Given the description of an element on the screen output the (x, y) to click on. 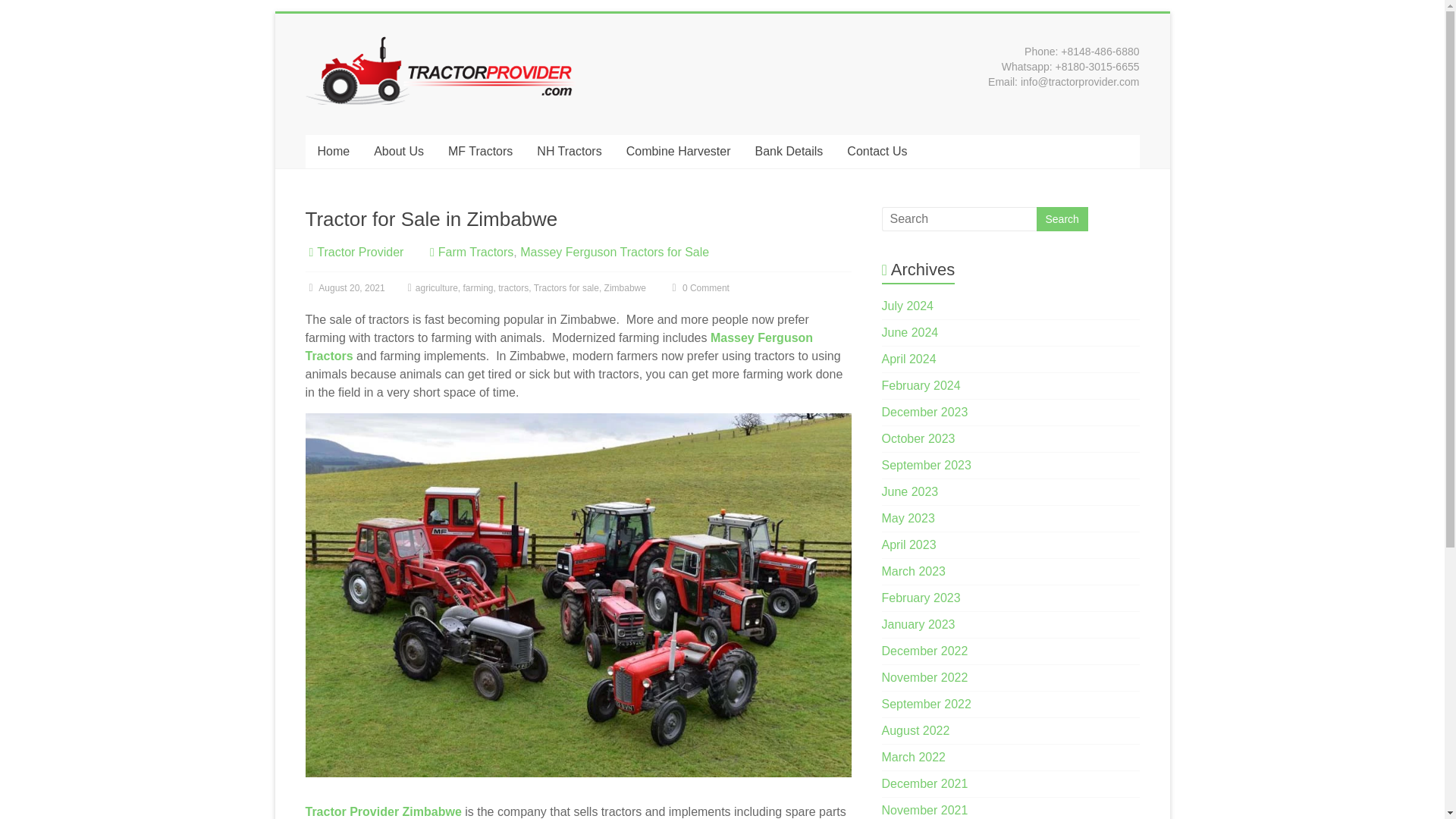
NH Tractors (568, 151)
June 2024 (910, 332)
Search (1061, 218)
About Us (398, 151)
Combine Harvester (678, 151)
Search (1061, 218)
March 2023 (914, 571)
agriculture (436, 287)
September 2023 (926, 464)
Tractor Provider (360, 251)
Bank Details (788, 151)
February 2024 (921, 385)
February 2023 (921, 597)
Massey Ferguson Tractors for Sale (614, 251)
Zimbabwe (625, 287)
